Given the description of an element on the screen output the (x, y) to click on. 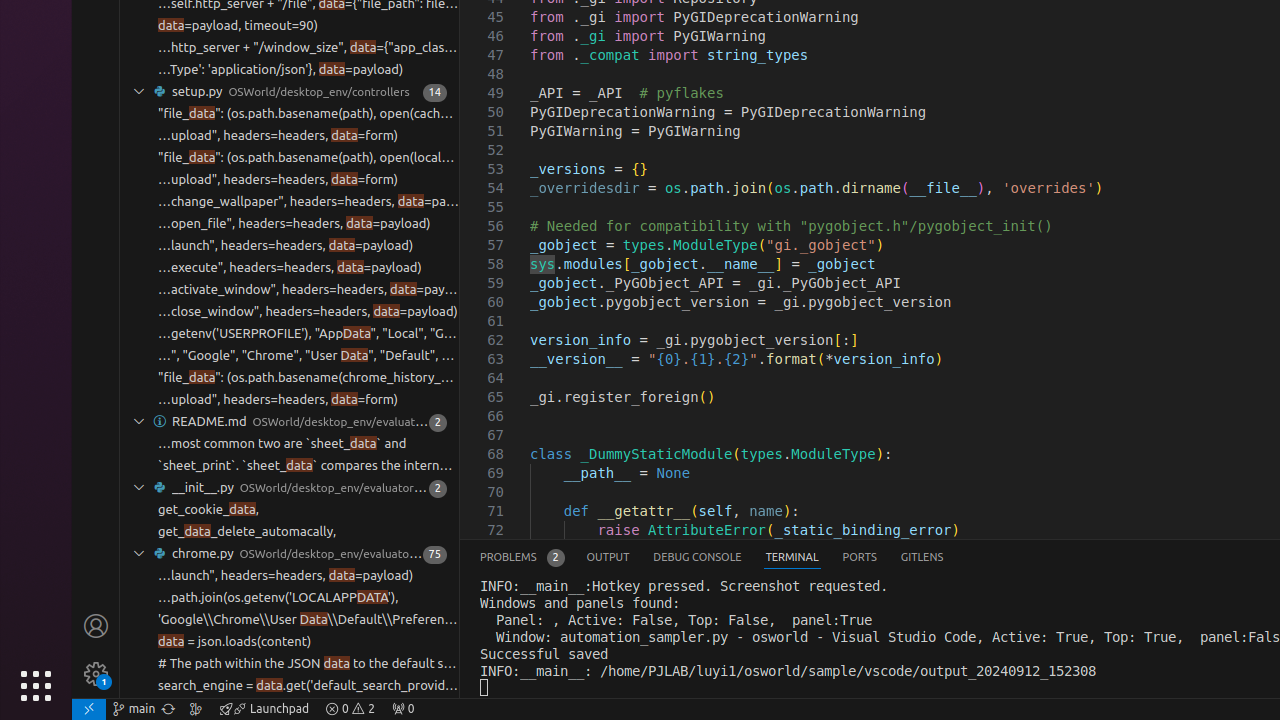
No Ports Forwarded Element type: push-button (403, 709)
search_engine = data.get('default_search_provider_data', {}).get('template_url_data', {}).get('short_name', Element type: link (308, 685)
' "file_data": (os.path.basename(path), open(local_path, "rb"))' at column 23 found data Element type: tree-item (289, 157)
' response = requests.post(self.http_server + "/setup" + "/launch", headers=headers, data=payload)' at column 96 found data Element type: tree-item (289, 245)
' response = requests.post(self.http_server + "/setup" + "/upload", headers=headers, data=form)' at column 100 found data Element type: tree-item (289, 179)
